Given the description of an element on the screen output the (x, y) to click on. 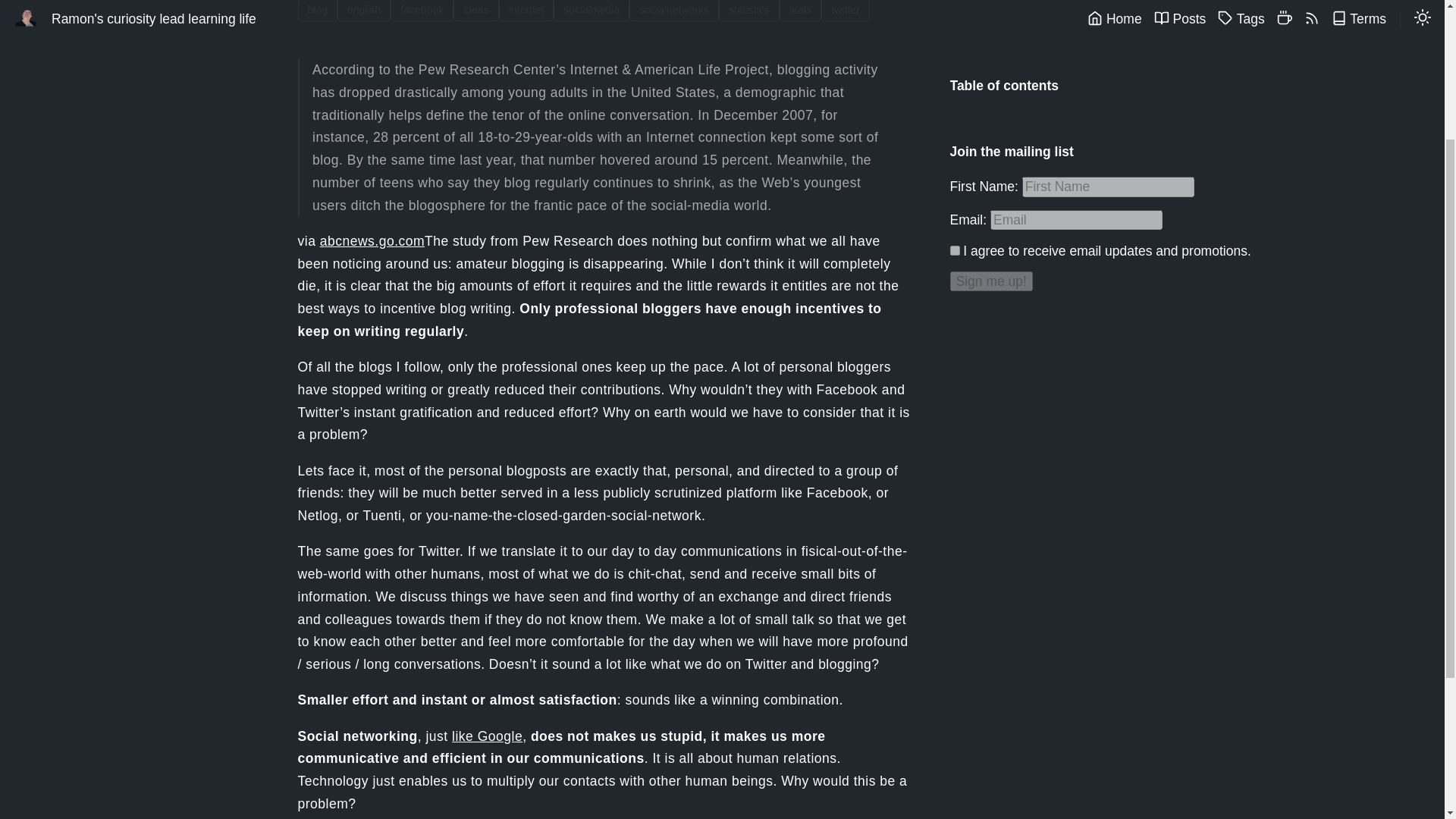
stats (800, 10)
blog (317, 10)
like Google (486, 735)
english (363, 10)
socialmedia (591, 10)
twitter (844, 10)
internet (526, 10)
1 (954, 55)
statistics (748, 10)
facebook (421, 10)
ideas (475, 10)
Sign me up! (990, 86)
socialnetworks (673, 10)
abcnews.go.com (372, 240)
